Given the description of an element on the screen output the (x, y) to click on. 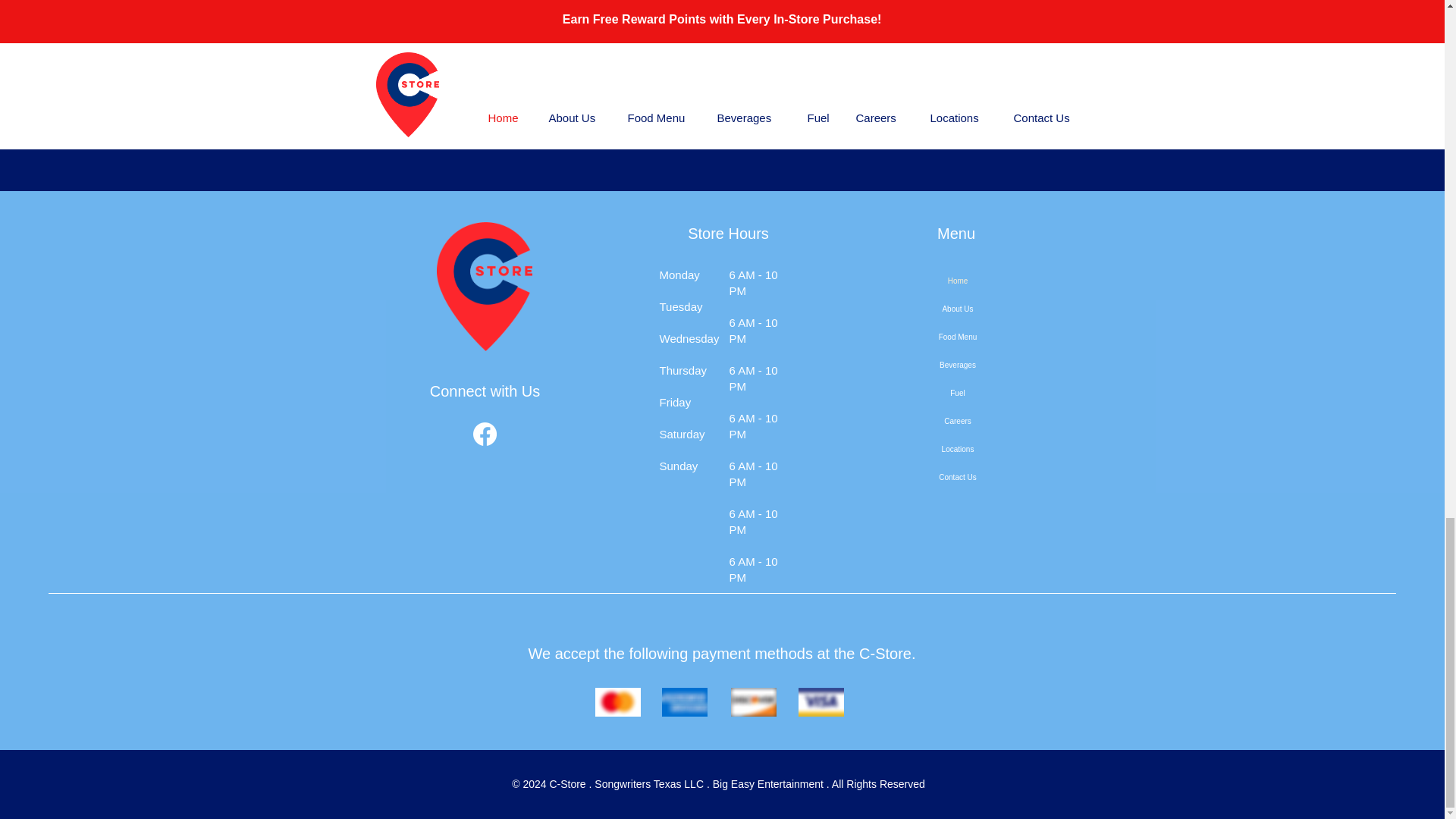
Contact Us (957, 477)
Food Menu (957, 336)
Home (957, 280)
Fuel (957, 393)
Beverages (957, 365)
About Us (957, 308)
Careers (957, 420)
